Given the description of an element on the screen output the (x, y) to click on. 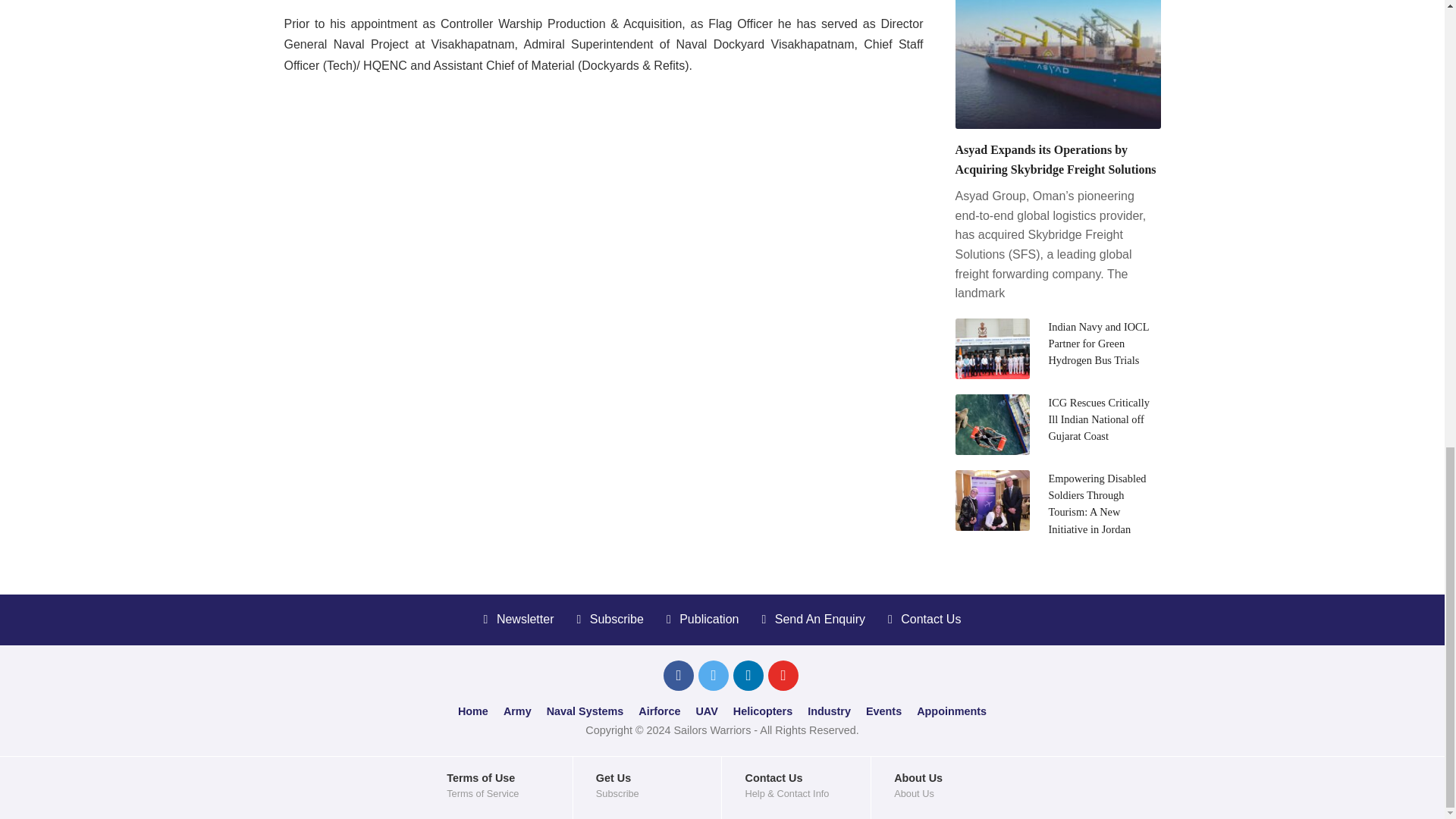
Newsletter (518, 618)
Indian Navy and IOCL Partner for Green Hydrogen Bus Trials (1098, 343)
ICG Rescues Critically Ill Indian National off Gujarat Coast (1099, 419)
Indian Navy and IOCL Partner for Green Hydrogen Bus Trials (1098, 343)
ICG Rescues Critically Ill Indian National off Gujarat Coast (1099, 419)
